Given the description of an element on the screen output the (x, y) to click on. 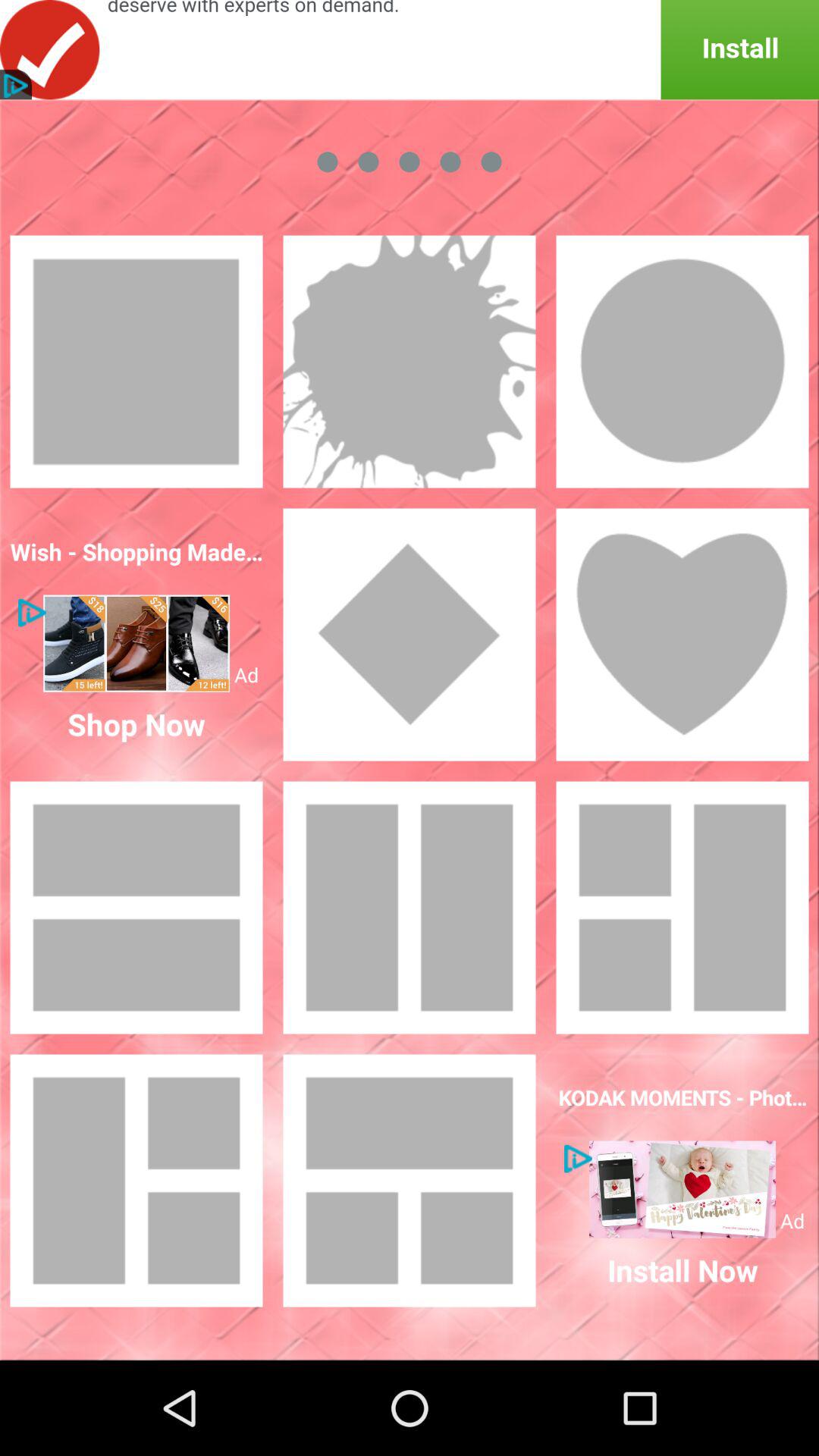
photo setting option (409, 634)
